Given the description of an element on the screen output the (x, y) to click on. 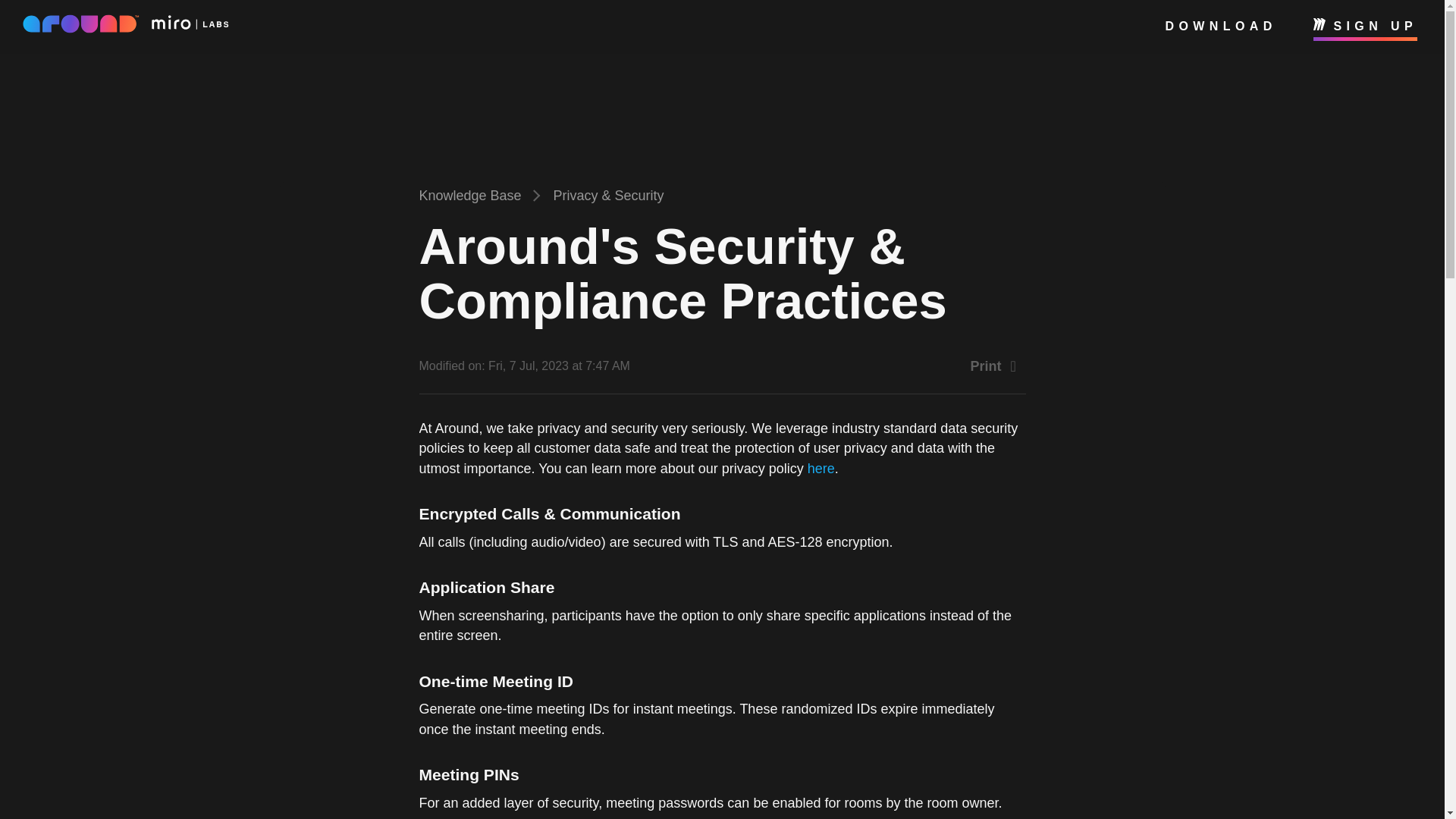
SIGN UP (1364, 25)
Knowledge Base (470, 195)
Print this Article (997, 366)
Print (997, 366)
DOWNLOAD (1220, 25)
here (821, 468)
